Given the description of an element on the screen output the (x, y) to click on. 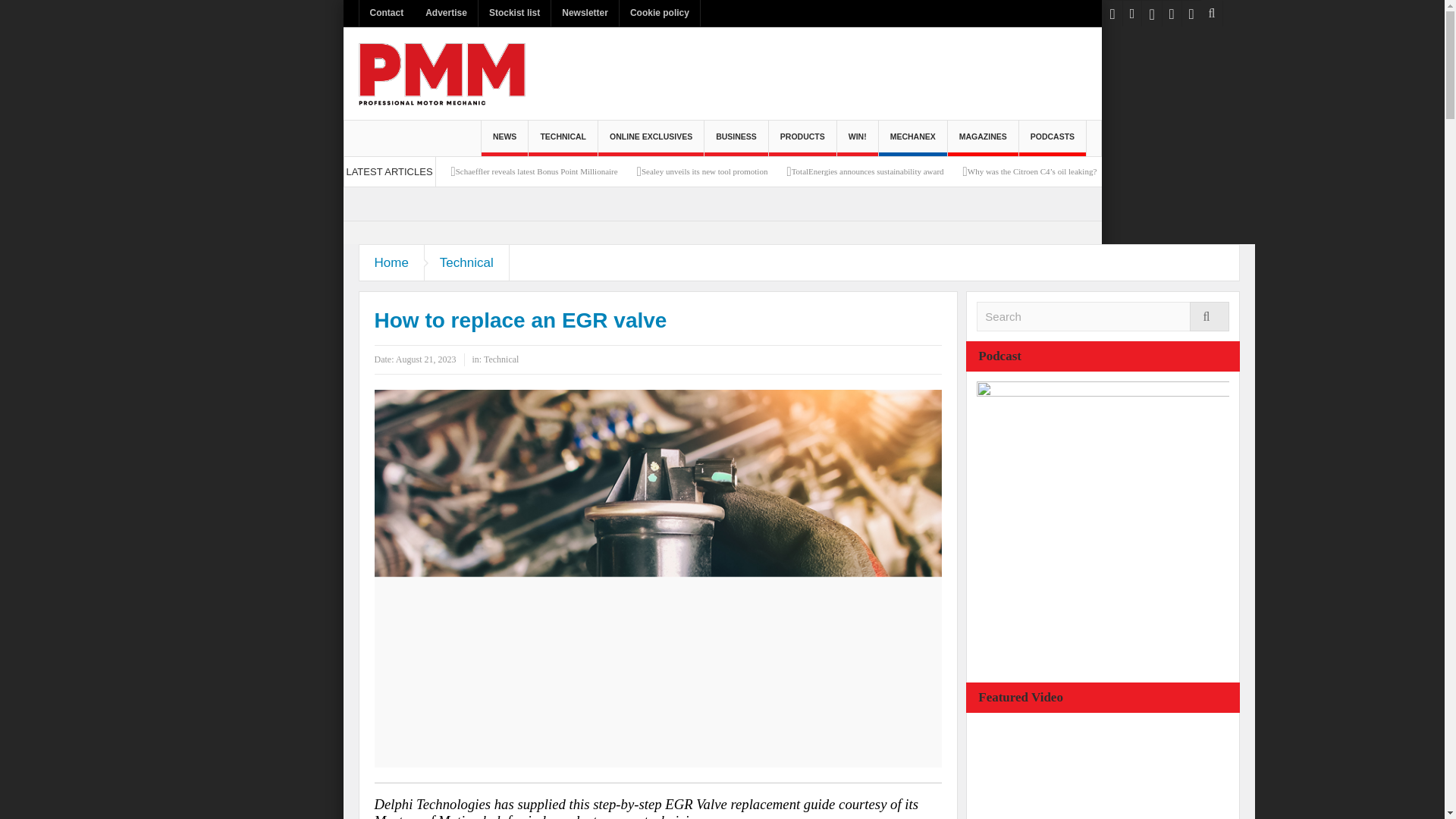
MECHANEX (913, 138)
Search (1102, 316)
PRODUCTS (801, 138)
Technical (467, 262)
Search (1102, 316)
Advertise (445, 13)
YouTube video player (1090, 770)
Cookie policy (660, 13)
MAGAZINES (982, 138)
ONLINE EXCLUSIVES (650, 138)
